Given the description of an element on the screen output the (x, y) to click on. 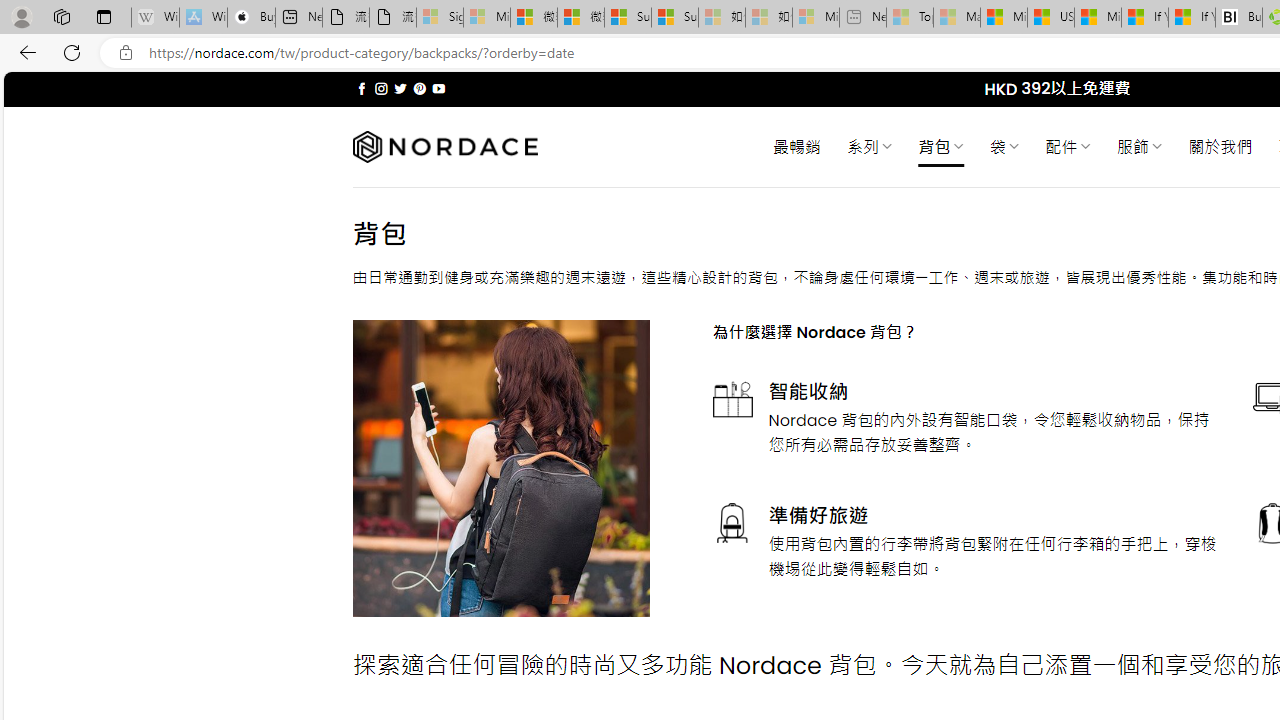
Microsoft Services Agreement - Sleeping (486, 17)
Follow on YouTube (438, 88)
